Given the description of an element on the screen output the (x, y) to click on. 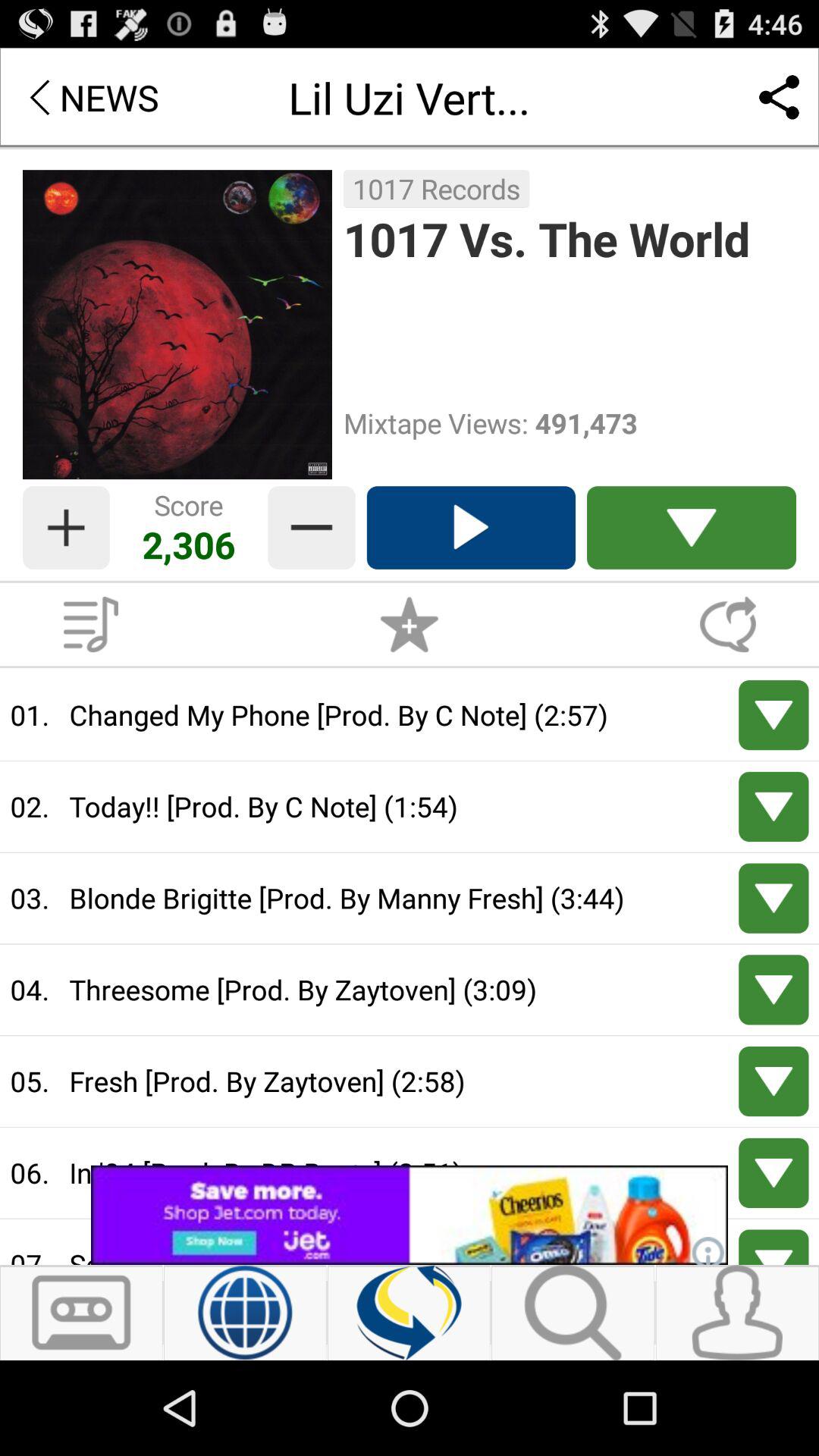
refresh page (408, 1312)
